Given the description of an element on the screen output the (x, y) to click on. 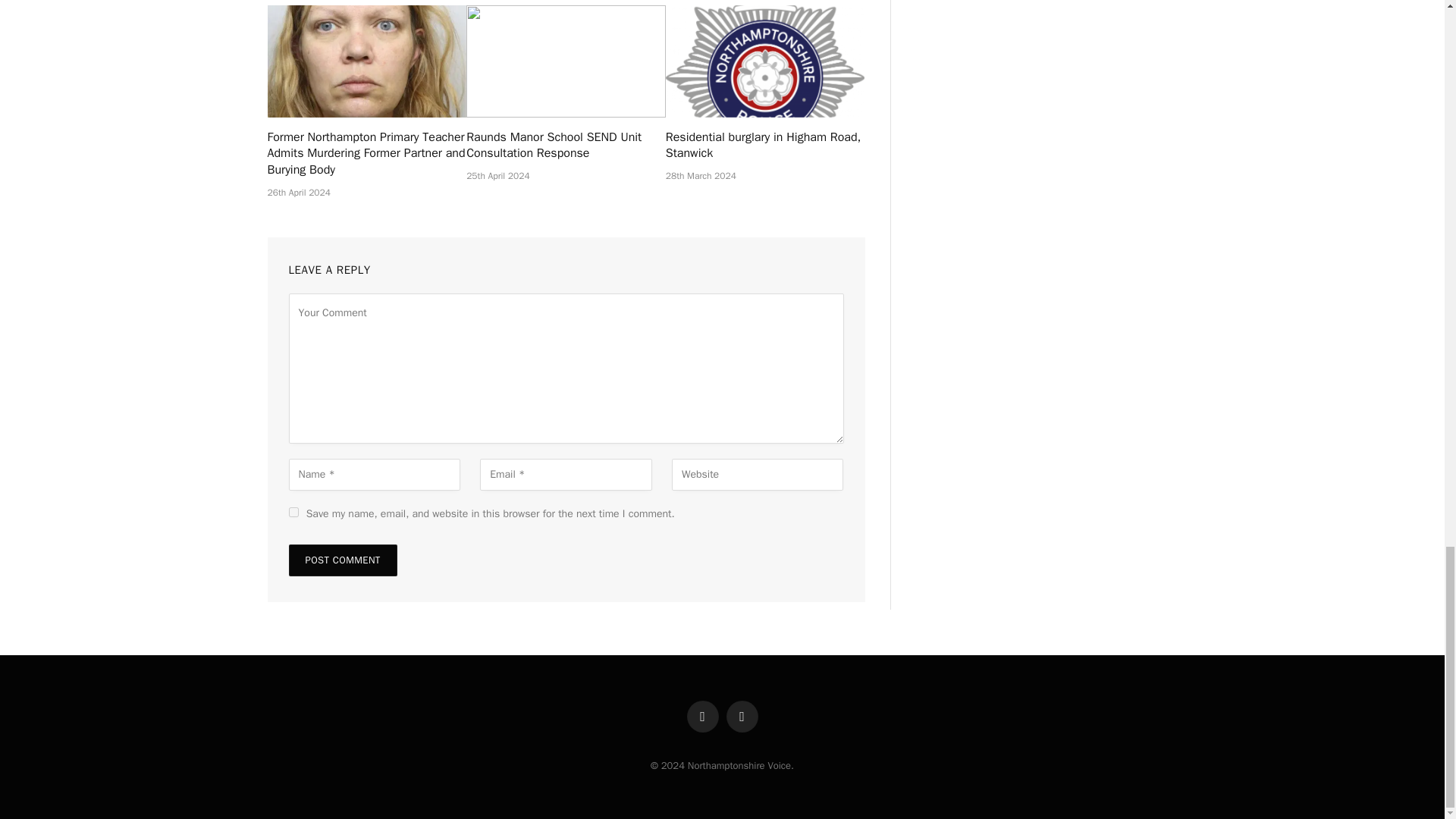
yes (293, 511)
Post Comment (342, 560)
